Given the description of an element on the screen output the (x, y) to click on. 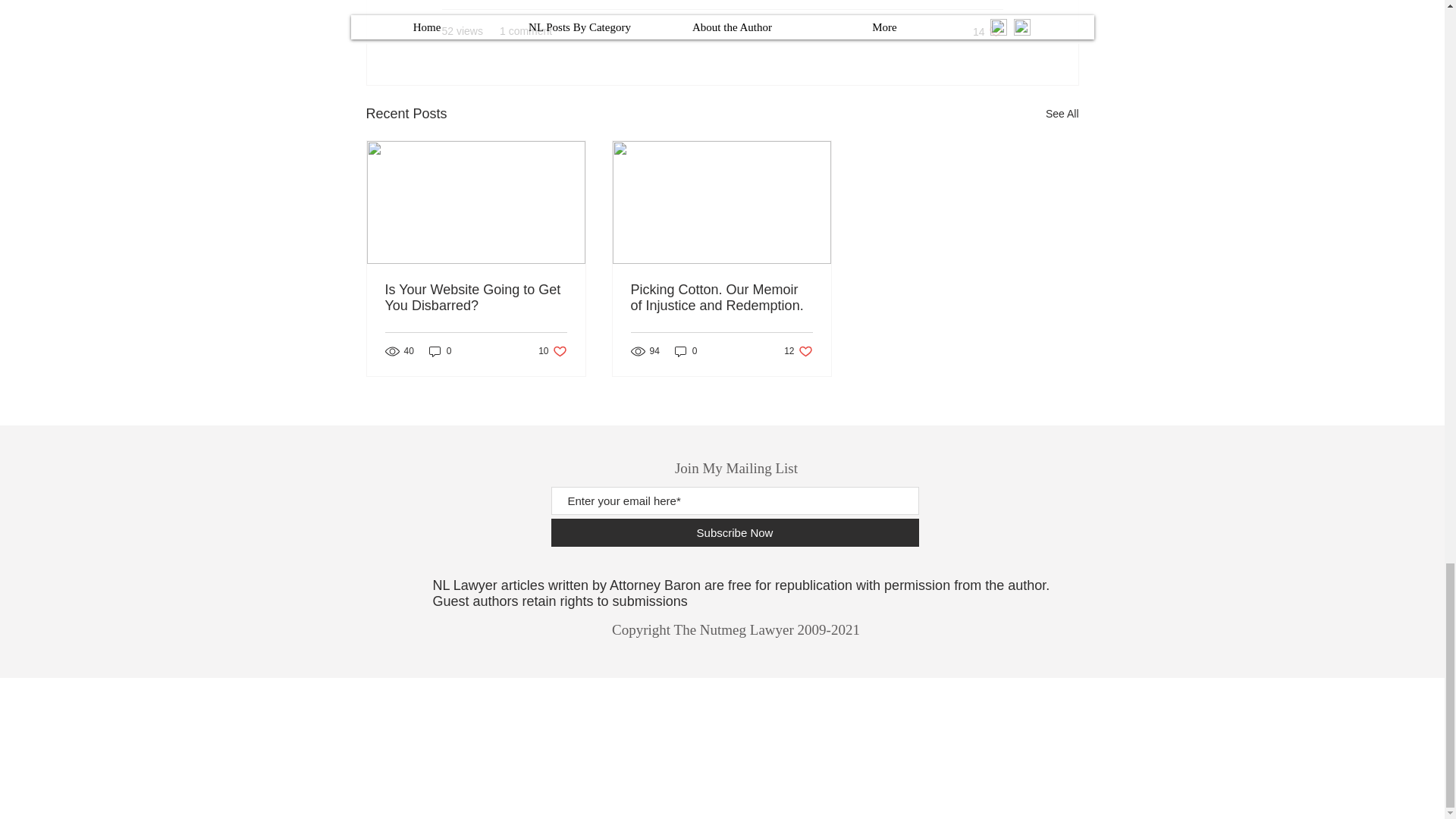
0 (552, 350)
See All (440, 350)
0 (798, 350)
Subscribe Now (1061, 114)
Picking Cotton. Our Memoir of Injustice and Redemption. (685, 350)
Is Your Website Going to Get You Disbarred? (734, 532)
